Given the description of an element on the screen output the (x, y) to click on. 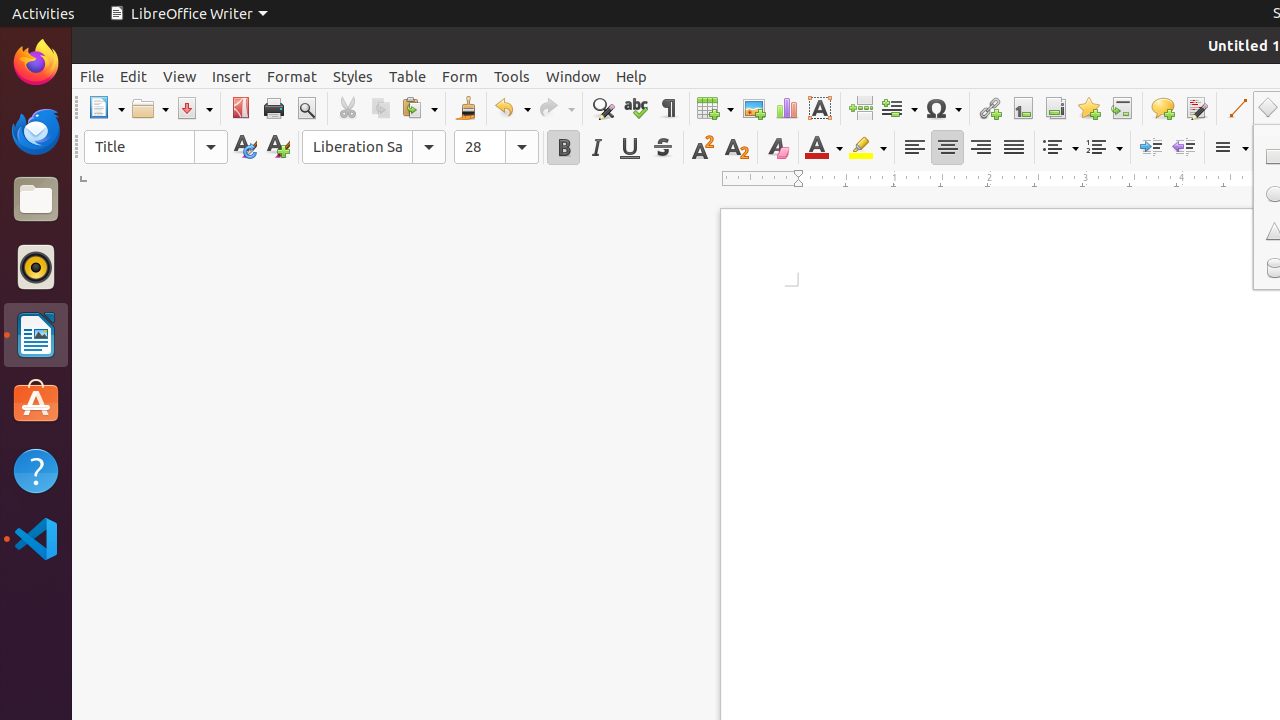
New Element type: push-button (277, 147)
Clone Element type: push-button (465, 108)
Paste Element type: push-button (419, 108)
Left Element type: toggle-button (914, 147)
Redo Element type: push-button (556, 108)
